Given the description of an element on the screen output the (x, y) to click on. 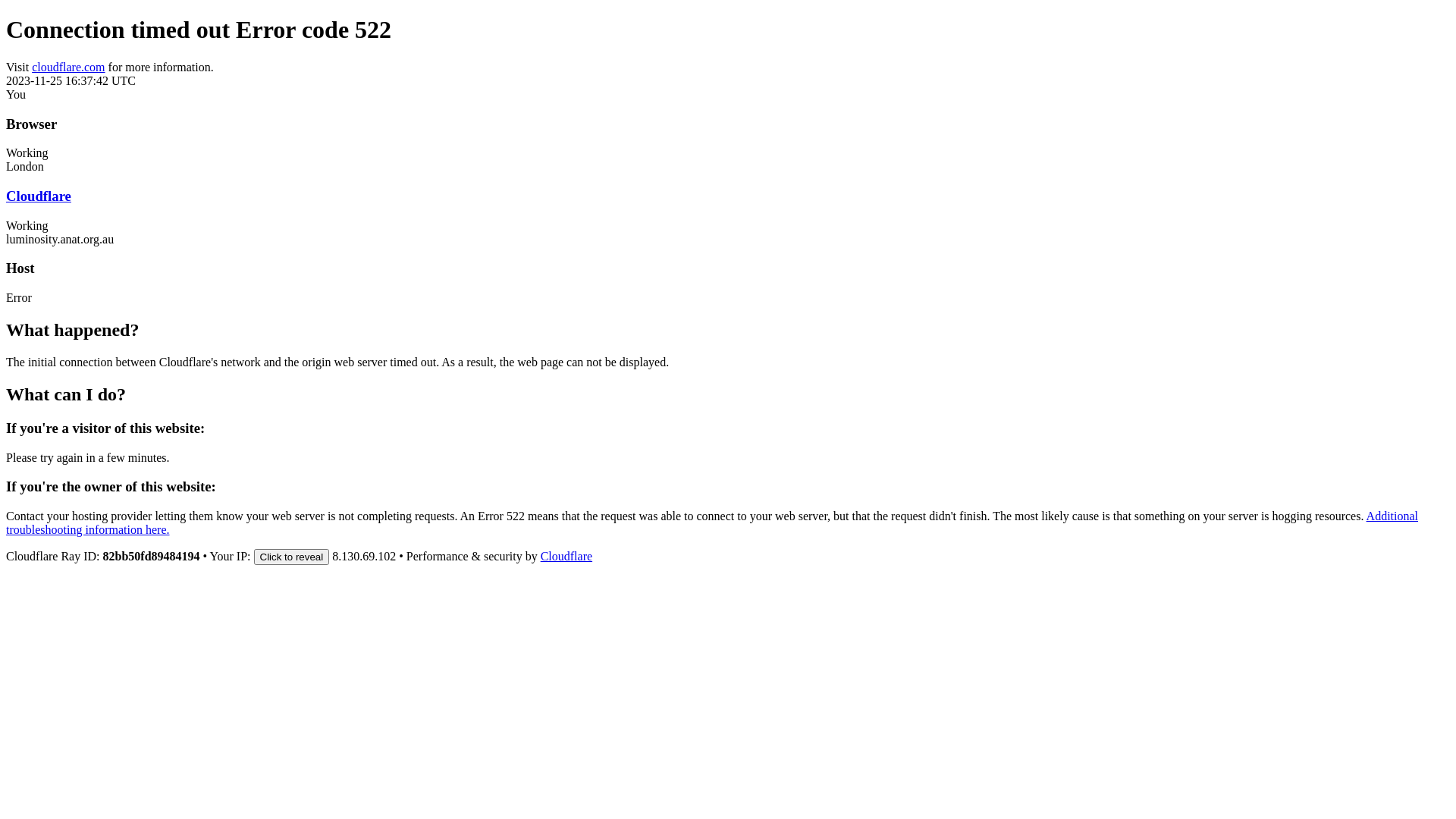
cloudflare.com Element type: text (67, 66)
Cloudflare Element type: text (566, 555)
Cloudflare Element type: text (38, 195)
Additional troubleshooting information here. Element type: text (712, 522)
Click to reveal Element type: text (291, 556)
